Given the description of an element on the screen output the (x, y) to click on. 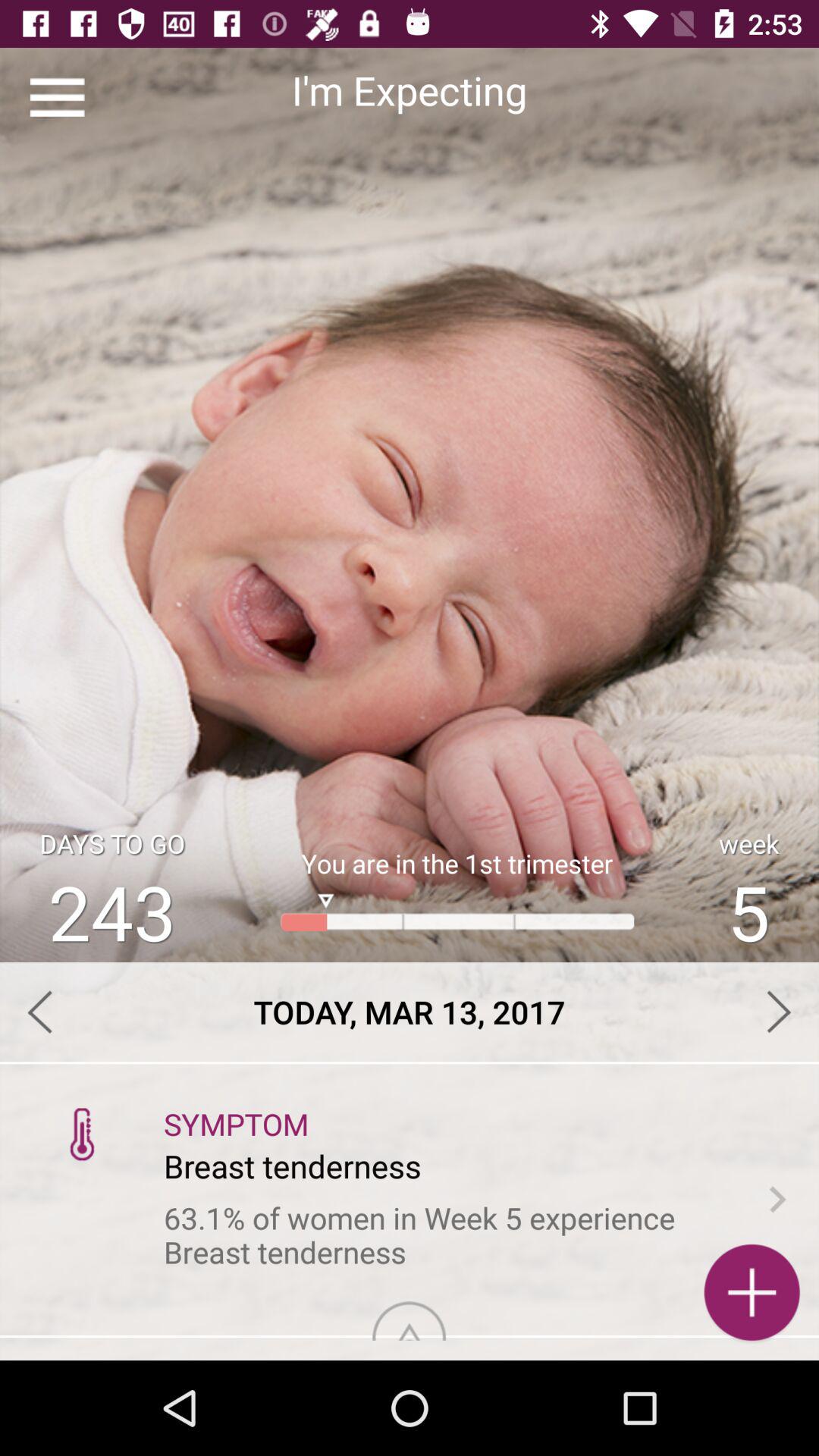
select the item to the right of the 63 1 of icon (777, 1199)
